Given the description of an element on the screen output the (x, y) to click on. 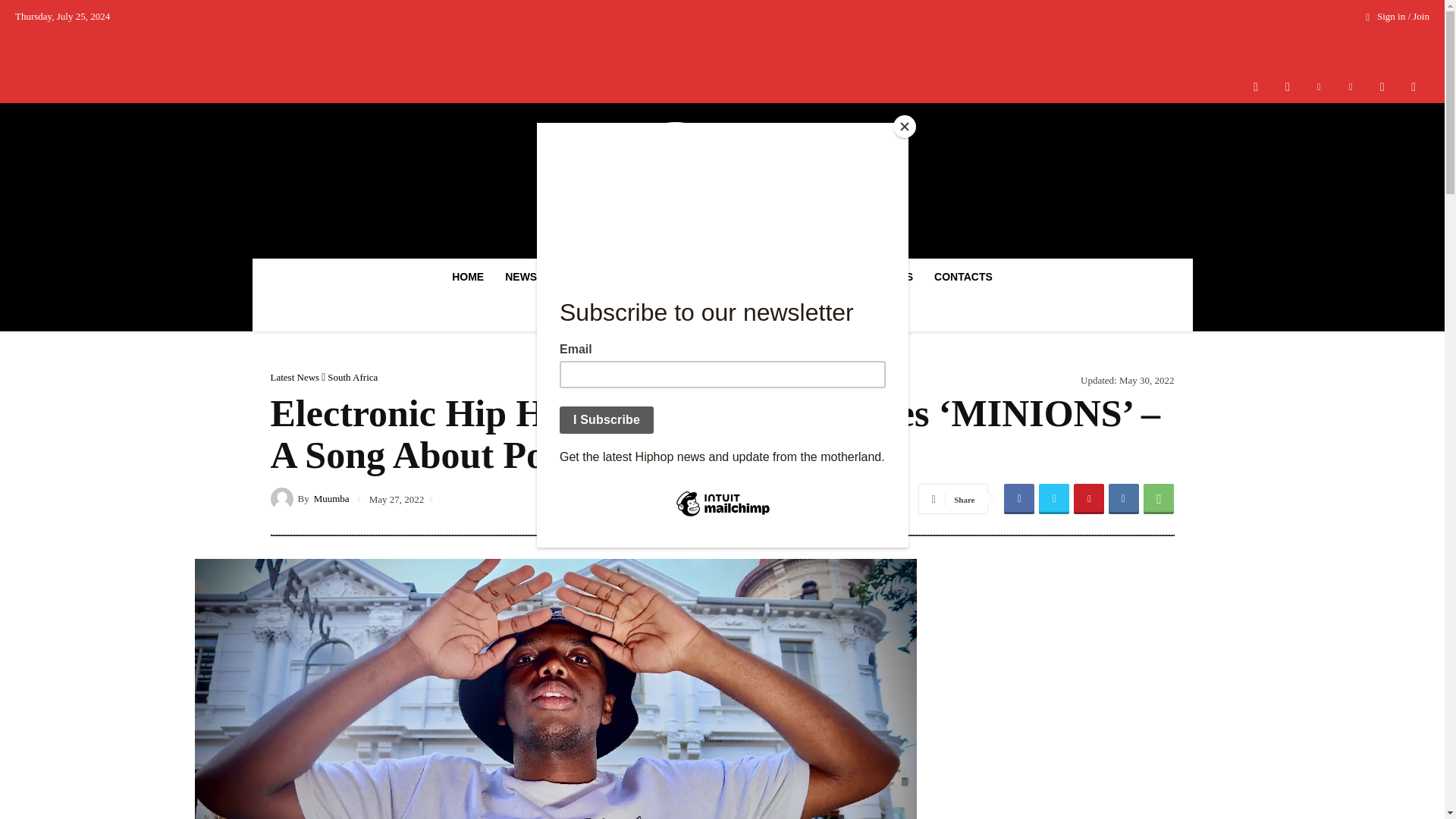
NEWS (525, 275)
EDITORIAL (599, 275)
Twitter (1382, 87)
Youtube (1413, 87)
HOME (468, 275)
Facebook (1255, 87)
Linkedin (1319, 87)
Pinterest (1351, 87)
Instagram (1287, 87)
Muumba (283, 497)
